Given the description of an element on the screen output the (x, y) to click on. 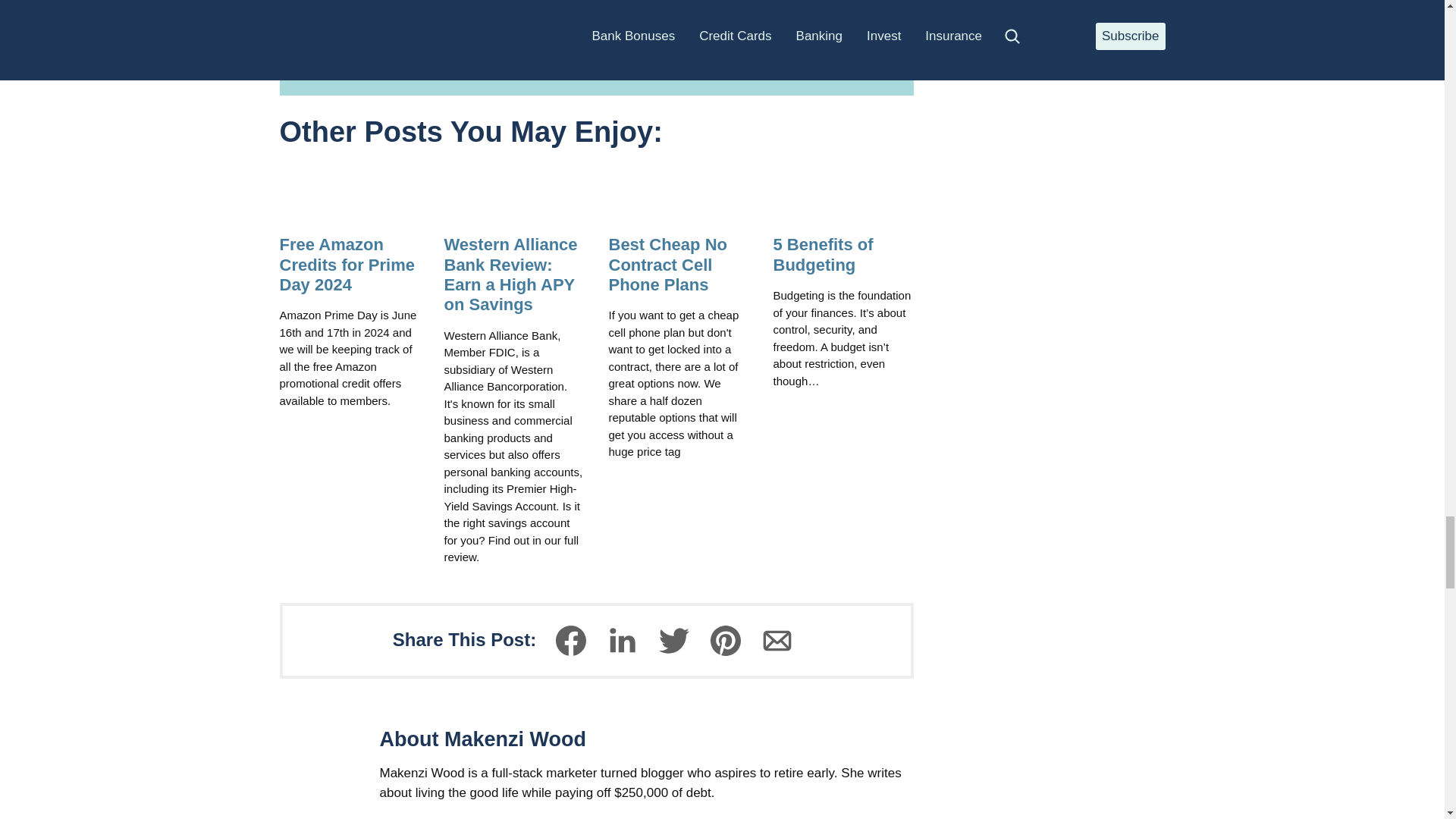
Share on Pinterest (725, 640)
Share on Twitter (673, 640)
Share on Facebook (571, 640)
Share via Email (776, 640)
Share on LinkedIn (622, 640)
